Given the description of an element on the screen output the (x, y) to click on. 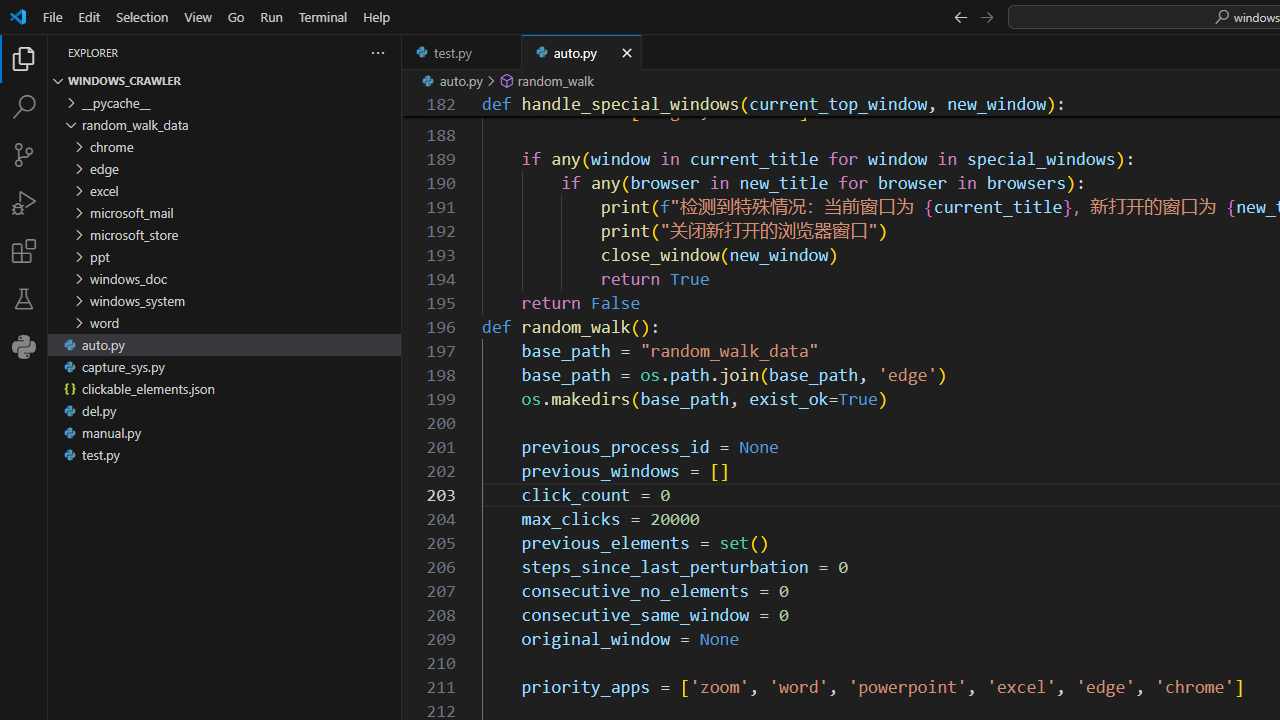
Edit (89, 16)
Go Forward (Alt+RightArrow) (986, 16)
Go Back (Alt+LeftArrow) (960, 16)
Views and More Actions... (378, 52)
auto.py (582, 52)
View (198, 16)
Source Control (Ctrl+Shift+G) (24, 155)
Extensions (Ctrl+Shift+X) (24, 250)
Explorer actions (257, 52)
Testing (24, 299)
Go (235, 16)
File (52, 16)
